Given the description of an element on the screen output the (x, y) to click on. 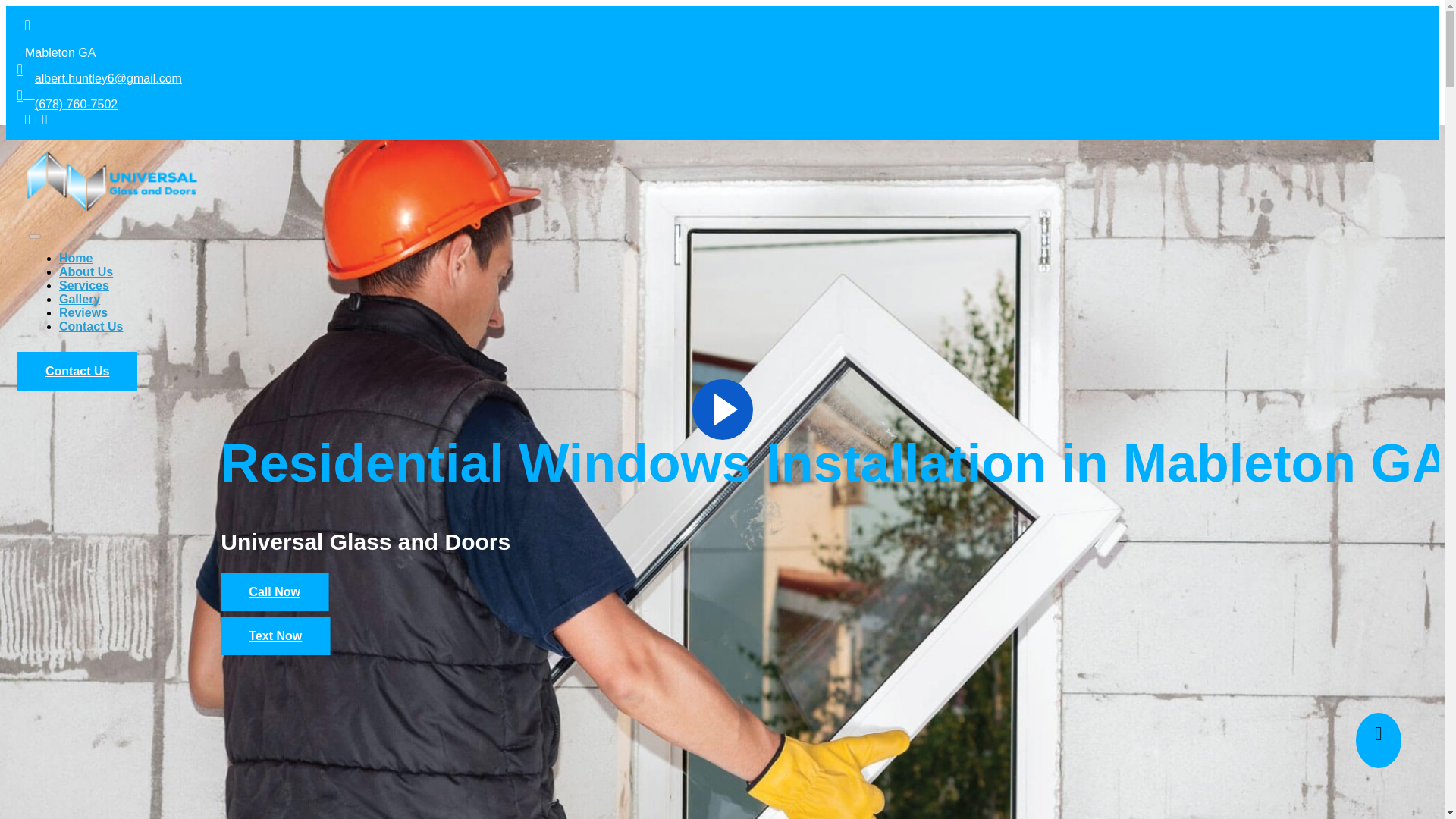
Services (84, 285)
Text Now (275, 635)
About Us (86, 271)
Reviews (83, 312)
Contact Us (90, 326)
Gallery (79, 298)
Gallery (79, 298)
Services (84, 285)
Contact Us (76, 371)
Call Now (275, 591)
Reviews (83, 312)
About Us (86, 271)
Contact Us (90, 326)
